Given the description of an element on the screen output the (x, y) to click on. 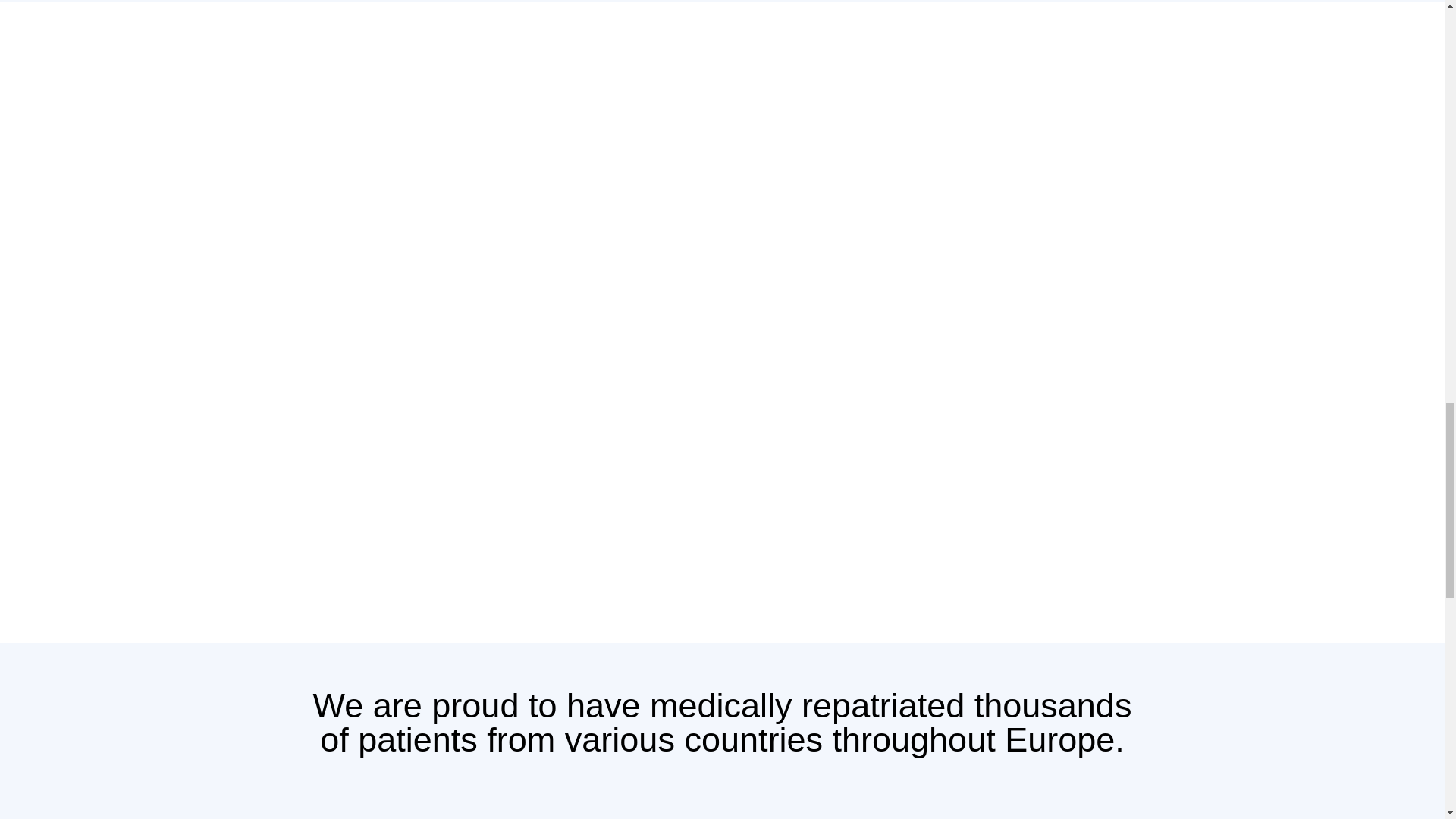
medical repatriation (937, 488)
flags (722, 799)
medical repatriation (505, 488)
